Given the description of an element on the screen output the (x, y) to click on. 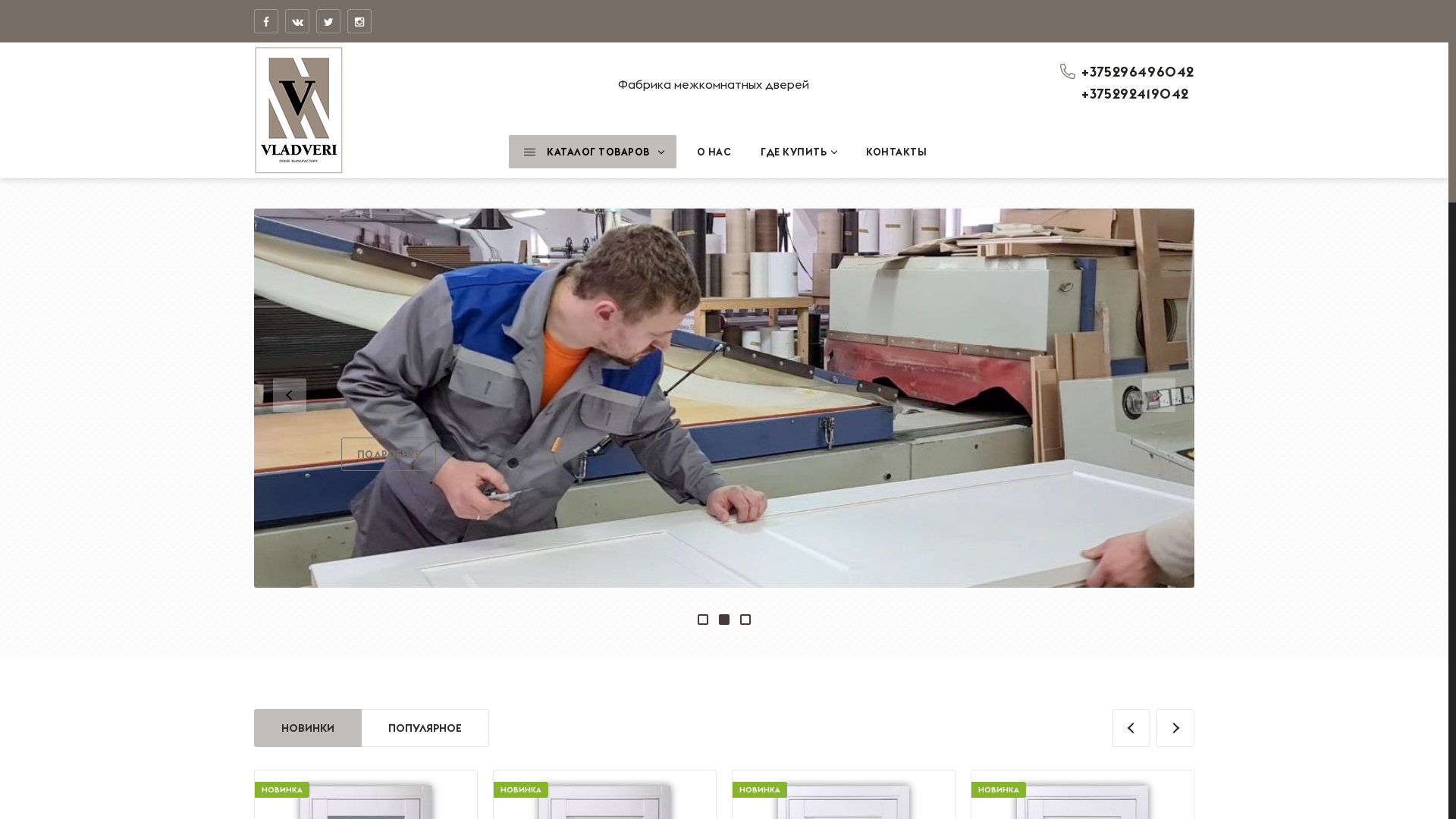
+375296496042 Element type: text (1137, 71)
+375292419042 Element type: text (1135, 93)
